Given the description of an element on the screen output the (x, y) to click on. 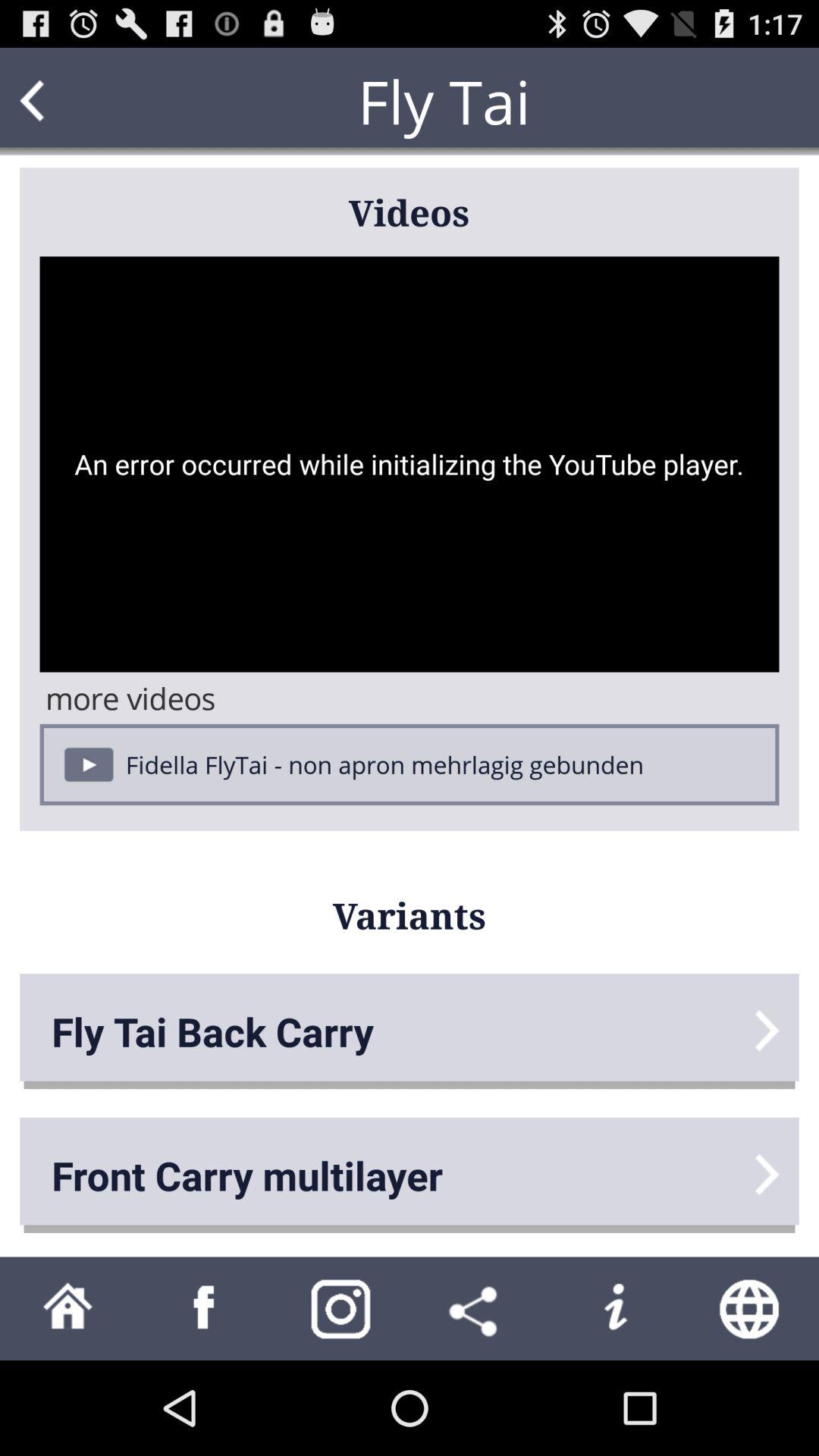
share with others (477, 1308)
